Given the description of an element on the screen output the (x, y) to click on. 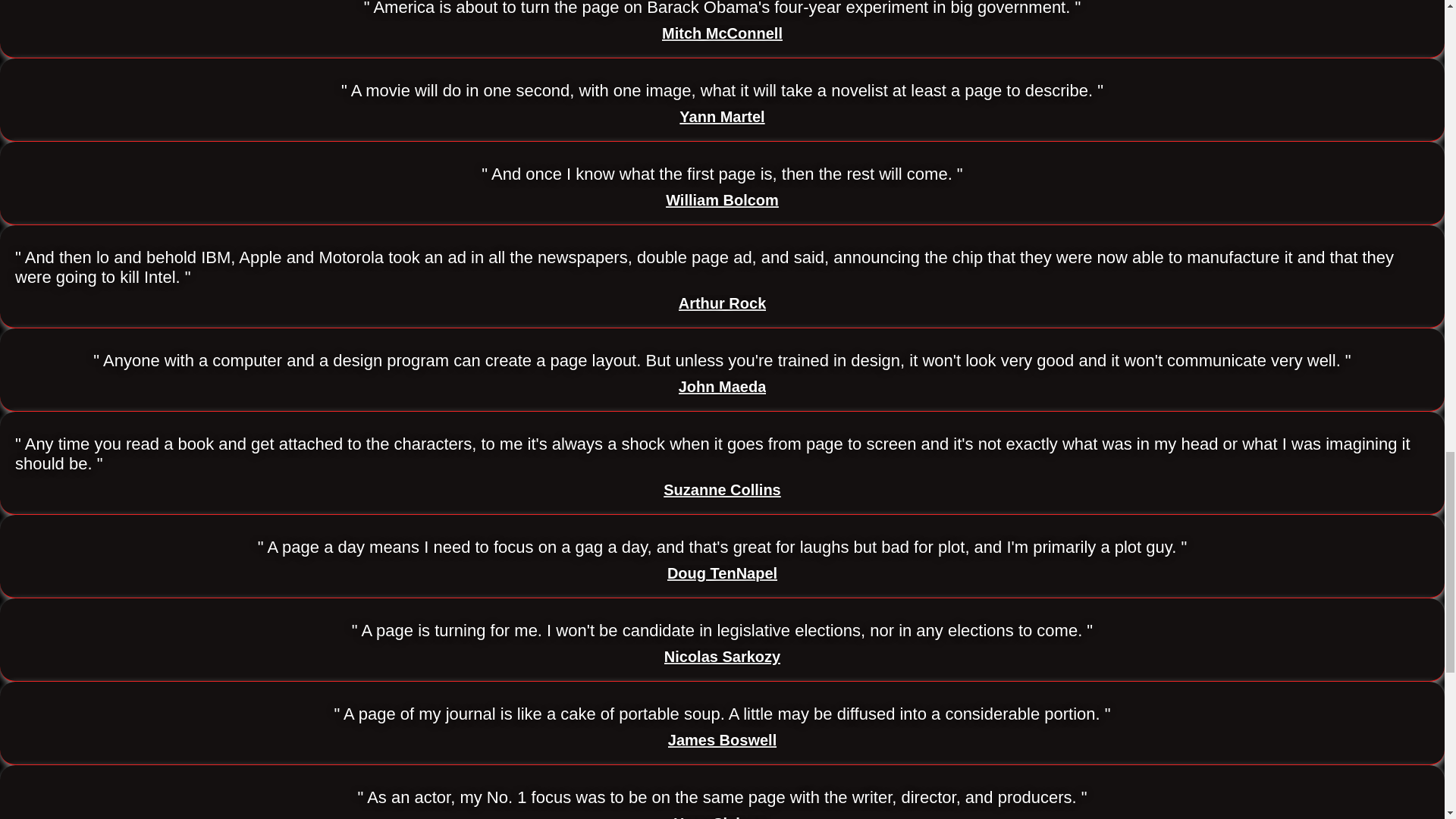
Mitch McConnell (722, 33)
